Given the description of an element on the screen output the (x, y) to click on. 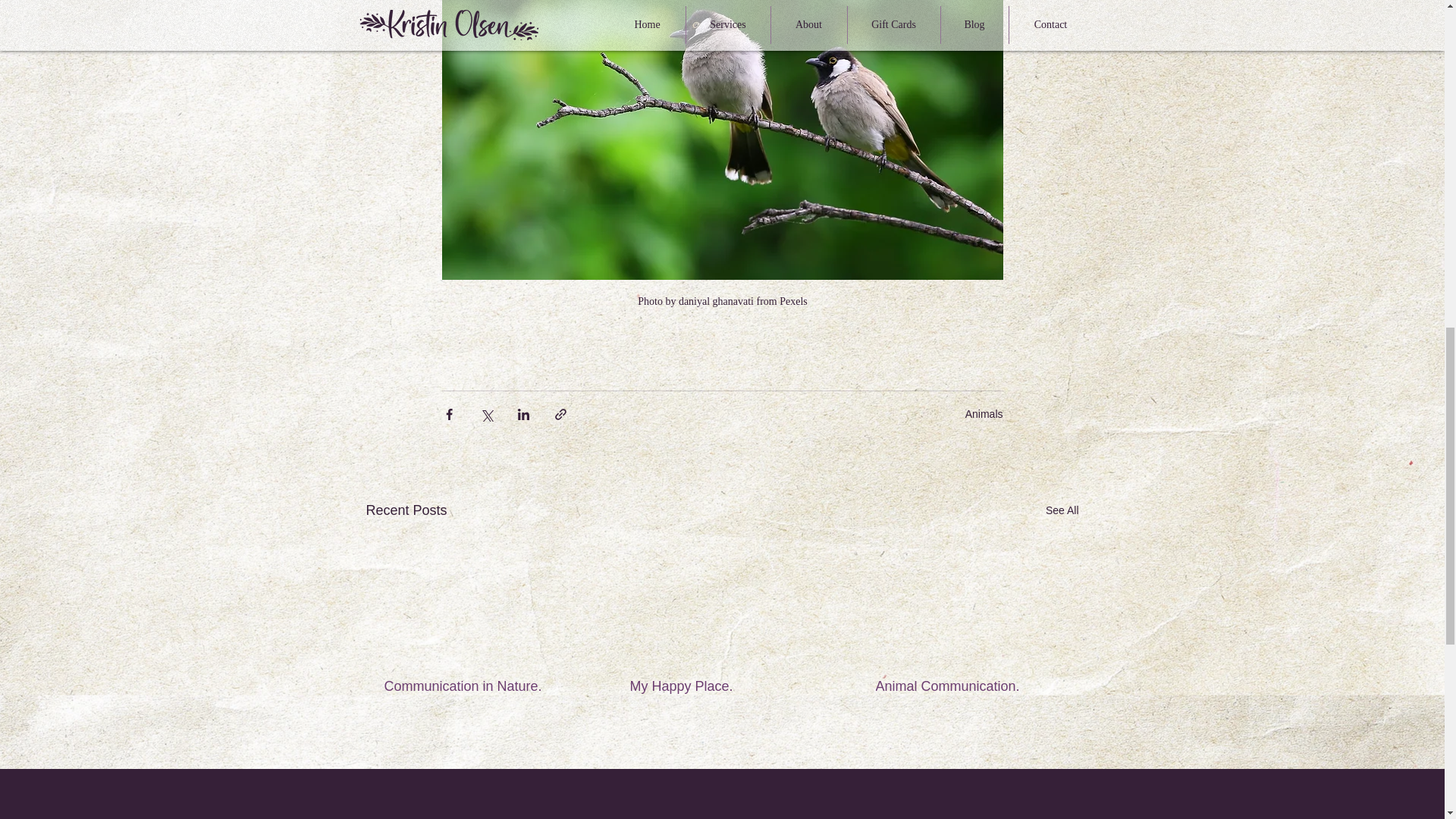
See All (1061, 510)
Communication in Nature. (475, 686)
Animals (984, 413)
Animal Communication. (966, 686)
My Happy Place. (720, 686)
